Given the description of an element on the screen output the (x, y) to click on. 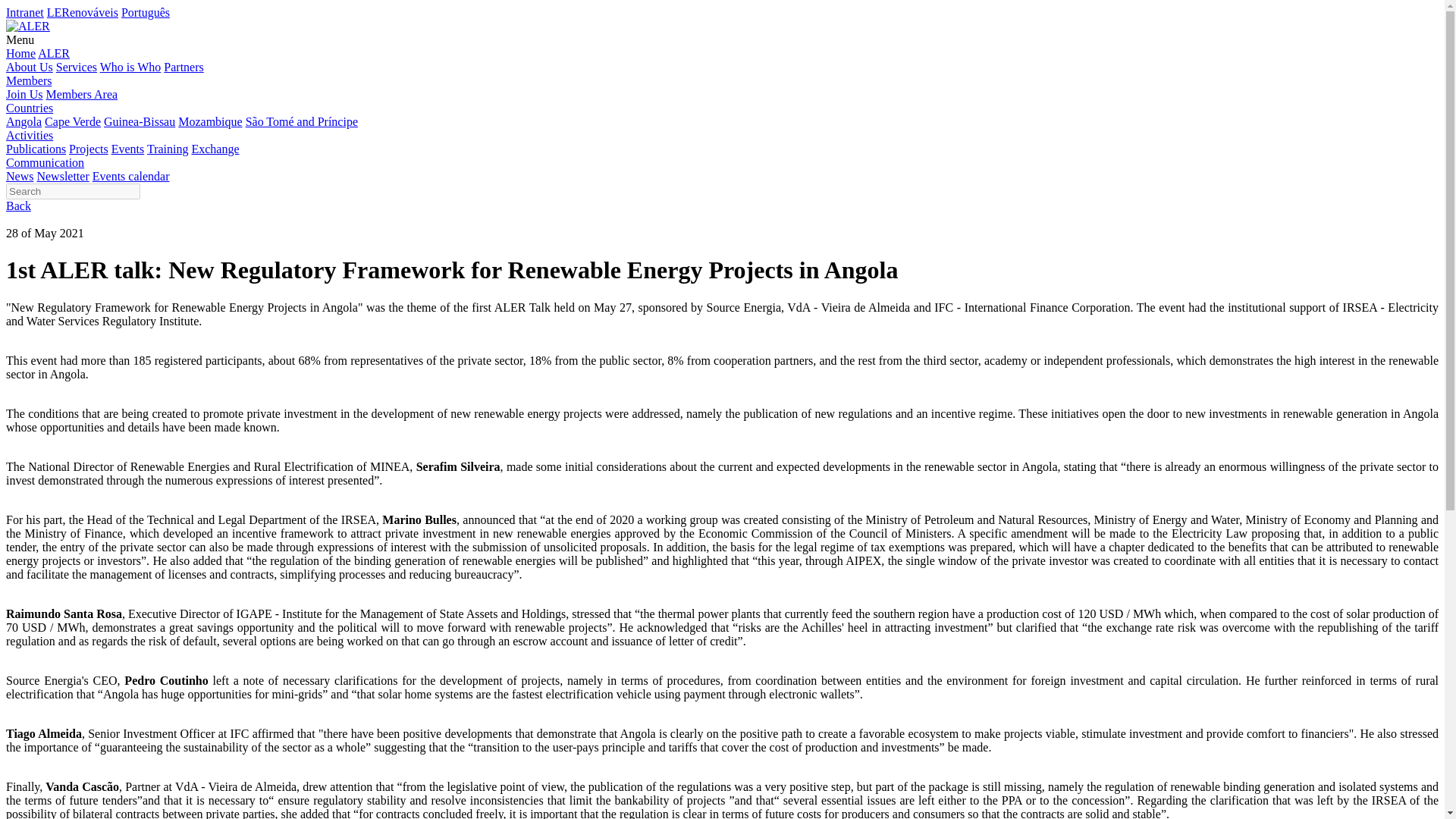
Angola (23, 121)
Members Area (81, 93)
Back (17, 205)
Countries (28, 107)
Partners (183, 66)
Cape Verde (72, 121)
Home (19, 52)
Activities (28, 134)
Events calendar (131, 175)
Intranet (24, 11)
Guinea-Bissau (138, 121)
News (19, 175)
Who is Who (130, 66)
Exchange (214, 148)
Join Us (23, 93)
